Given the description of an element on the screen output the (x, y) to click on. 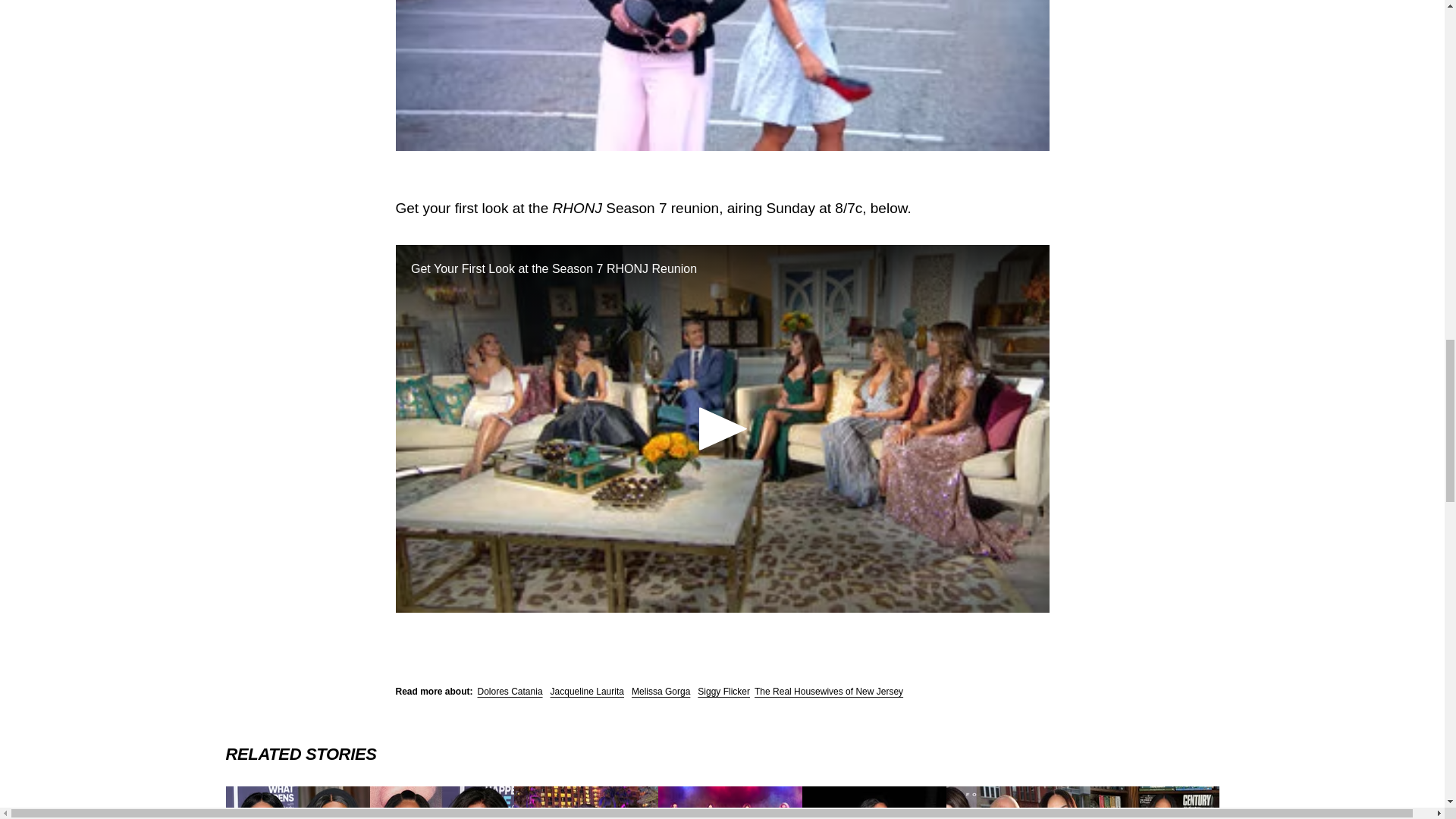
Melissa Gorga (660, 691)
Dolores Catania (510, 691)
Jacqueline Laurita (587, 691)
The Real Housewives of New Jersey (828, 691)
Siggy Flicker (723, 691)
